Given the description of an element on the screen output the (x, y) to click on. 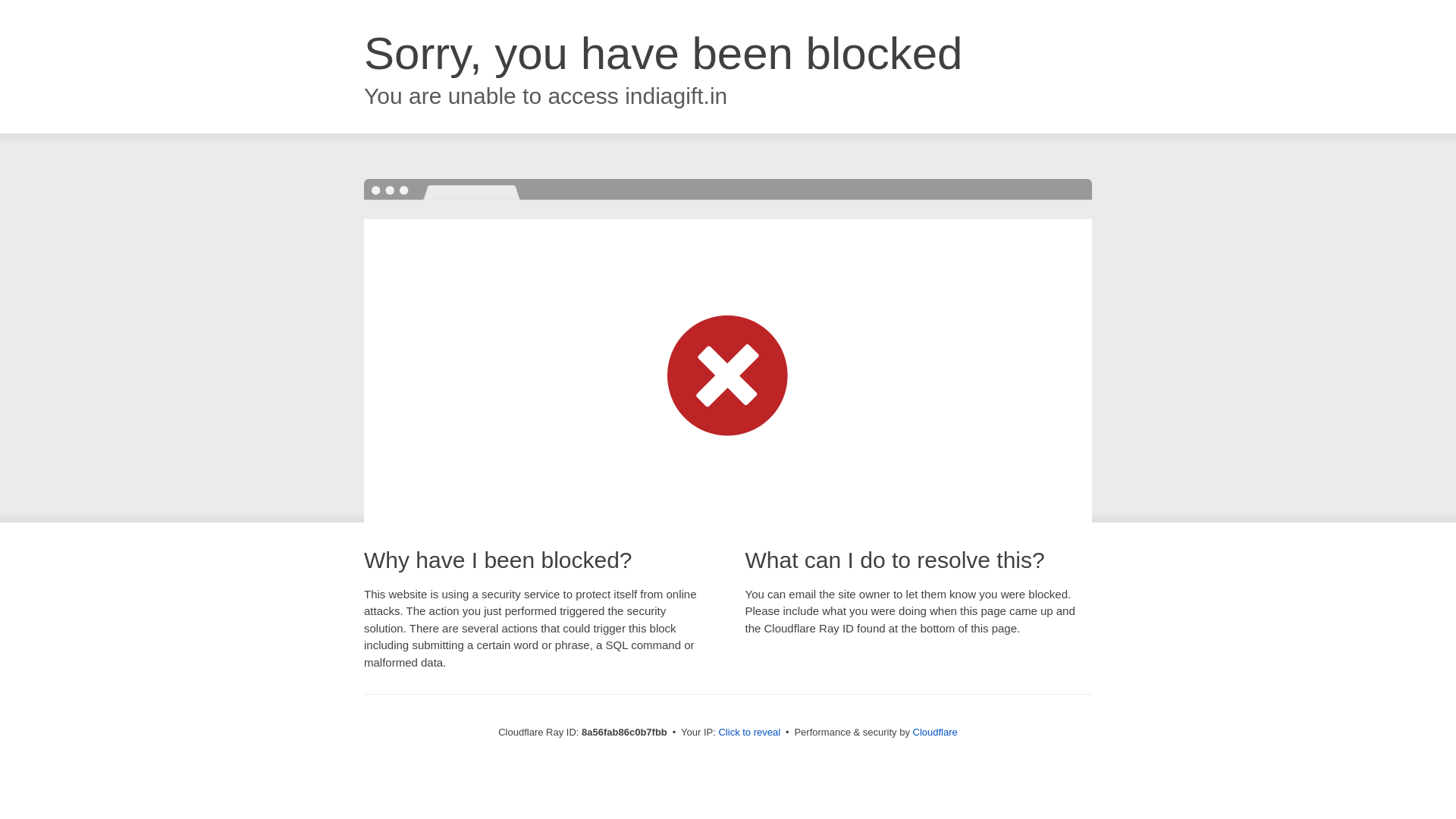
Click to reveal (748, 732)
Cloudflare (935, 731)
